Given the description of an element on the screen output the (x, y) to click on. 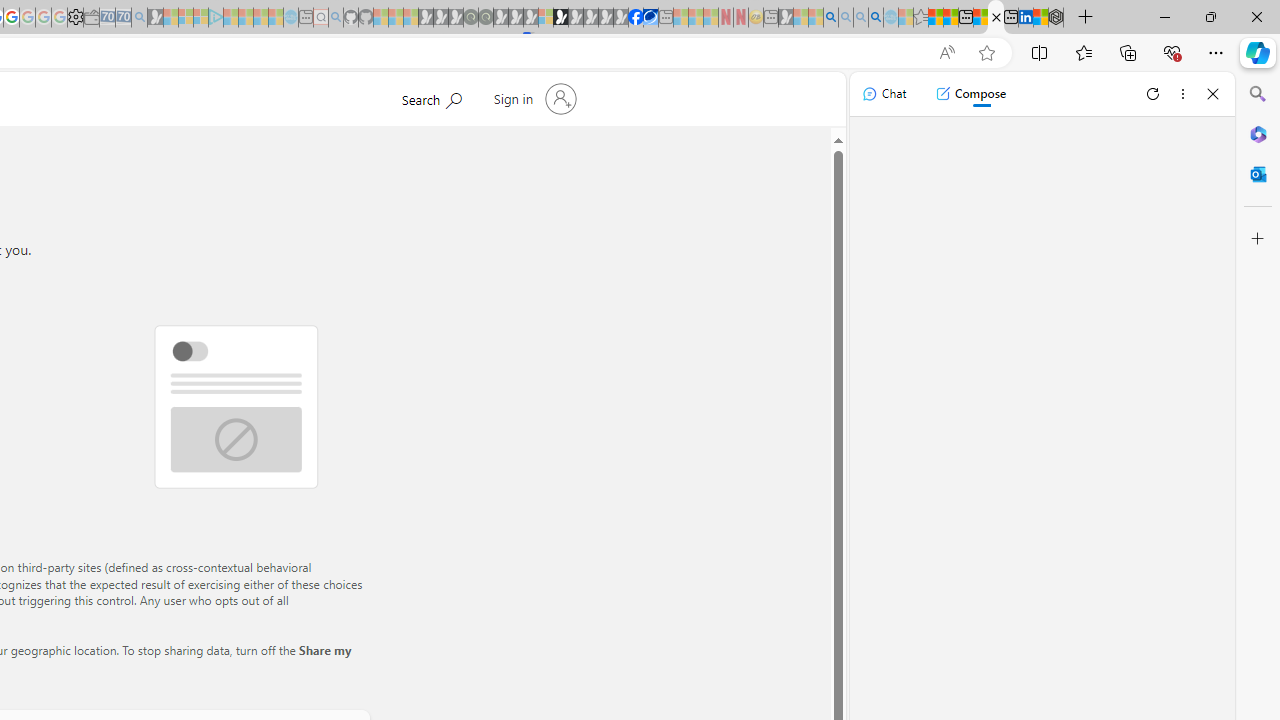
Nordace | Facebook (635, 17)
